Given the description of an element on the screen output the (x, y) to click on. 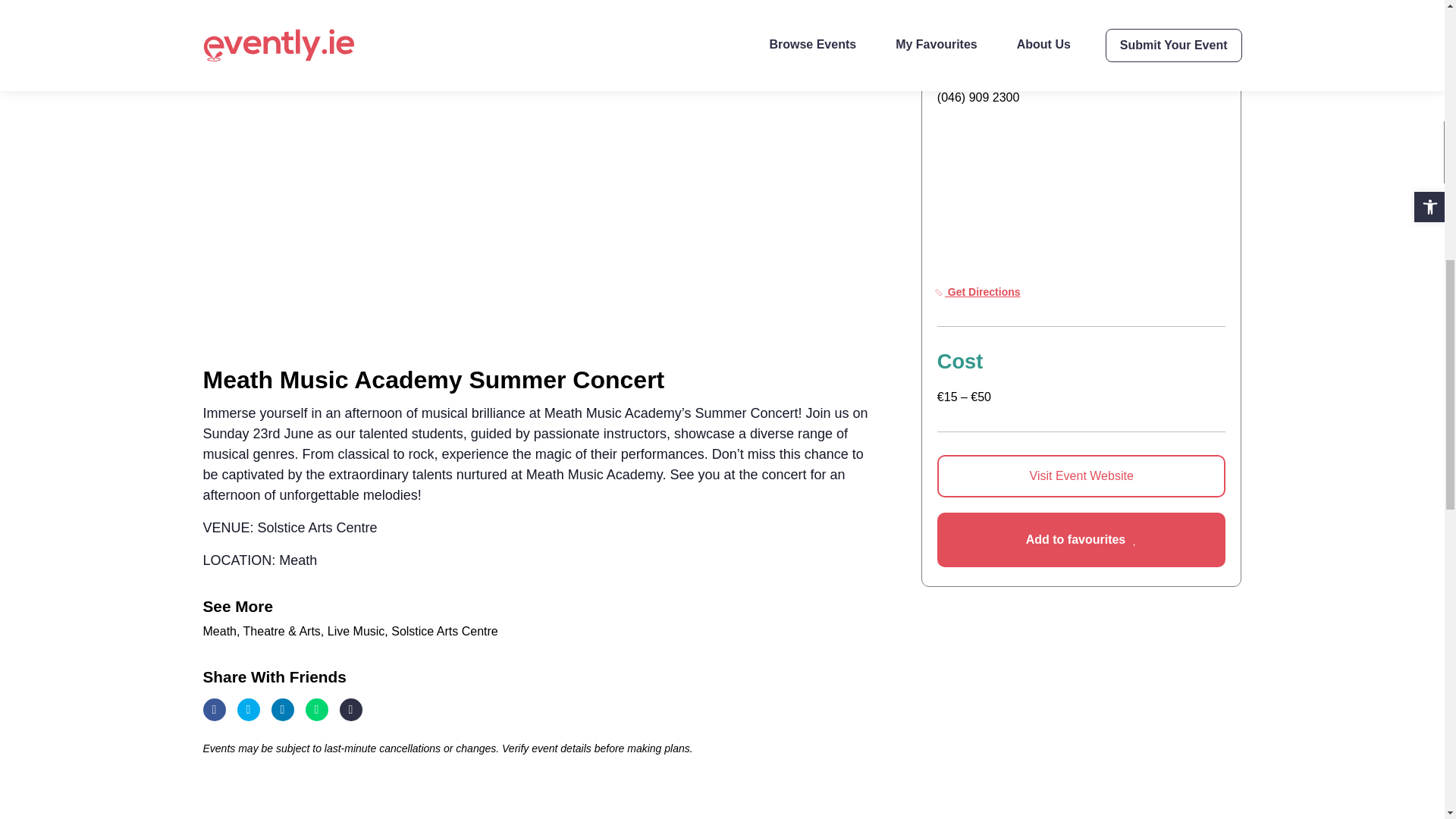
Event Categories - Live Music (357, 631)
Locations - Meath (221, 631)
Solstice Arts Centre (444, 631)
Add to favourites (1081, 539)
Live Music (357, 631)
Meath (221, 631)
Solstice Arts Centre (994, 2)
Get Directions (978, 291)
Visit Event Website (1081, 476)
